Given the description of an element on the screen output the (x, y) to click on. 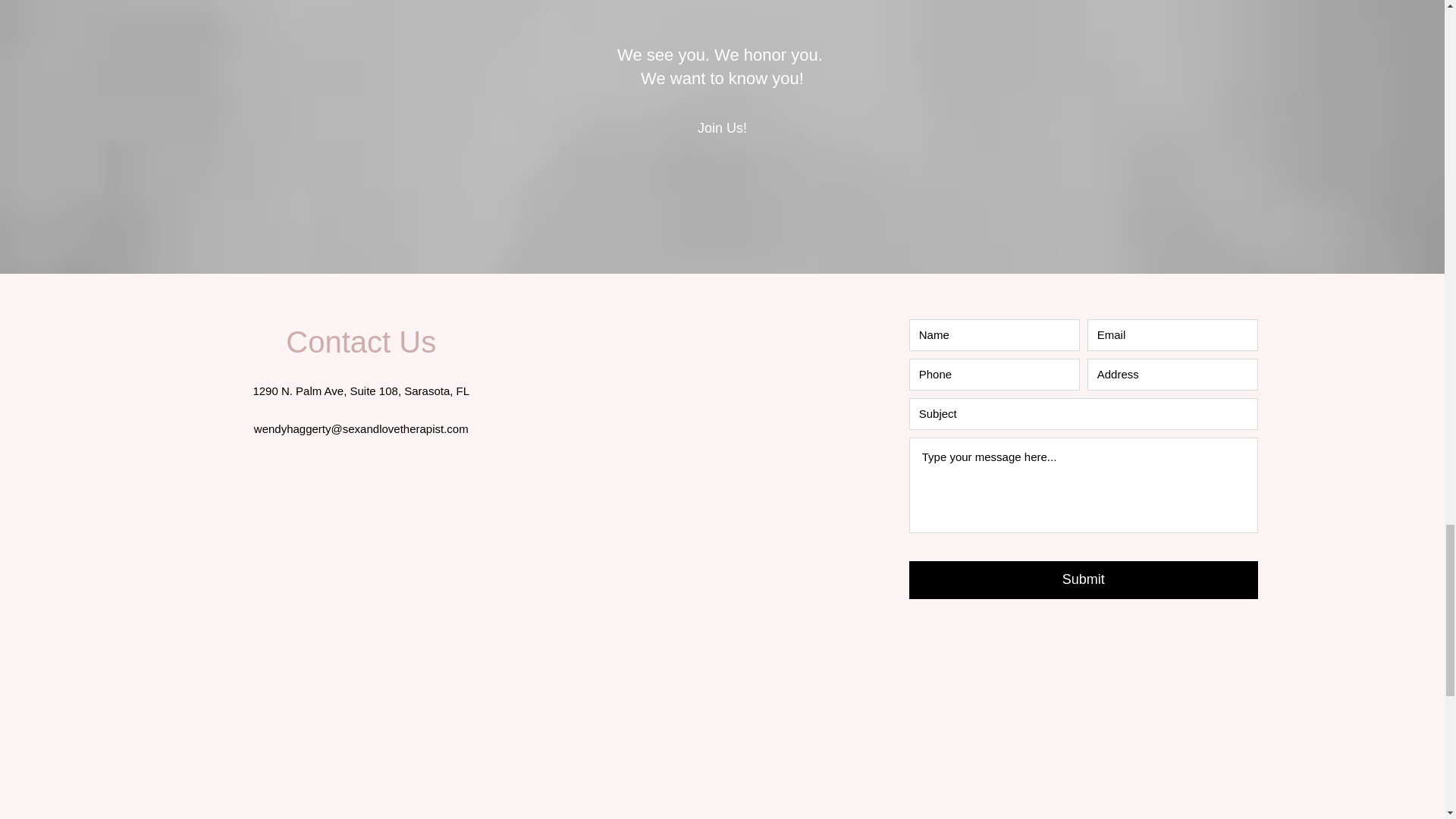
Submit (1082, 579)
